Given the description of an element on the screen output the (x, y) to click on. 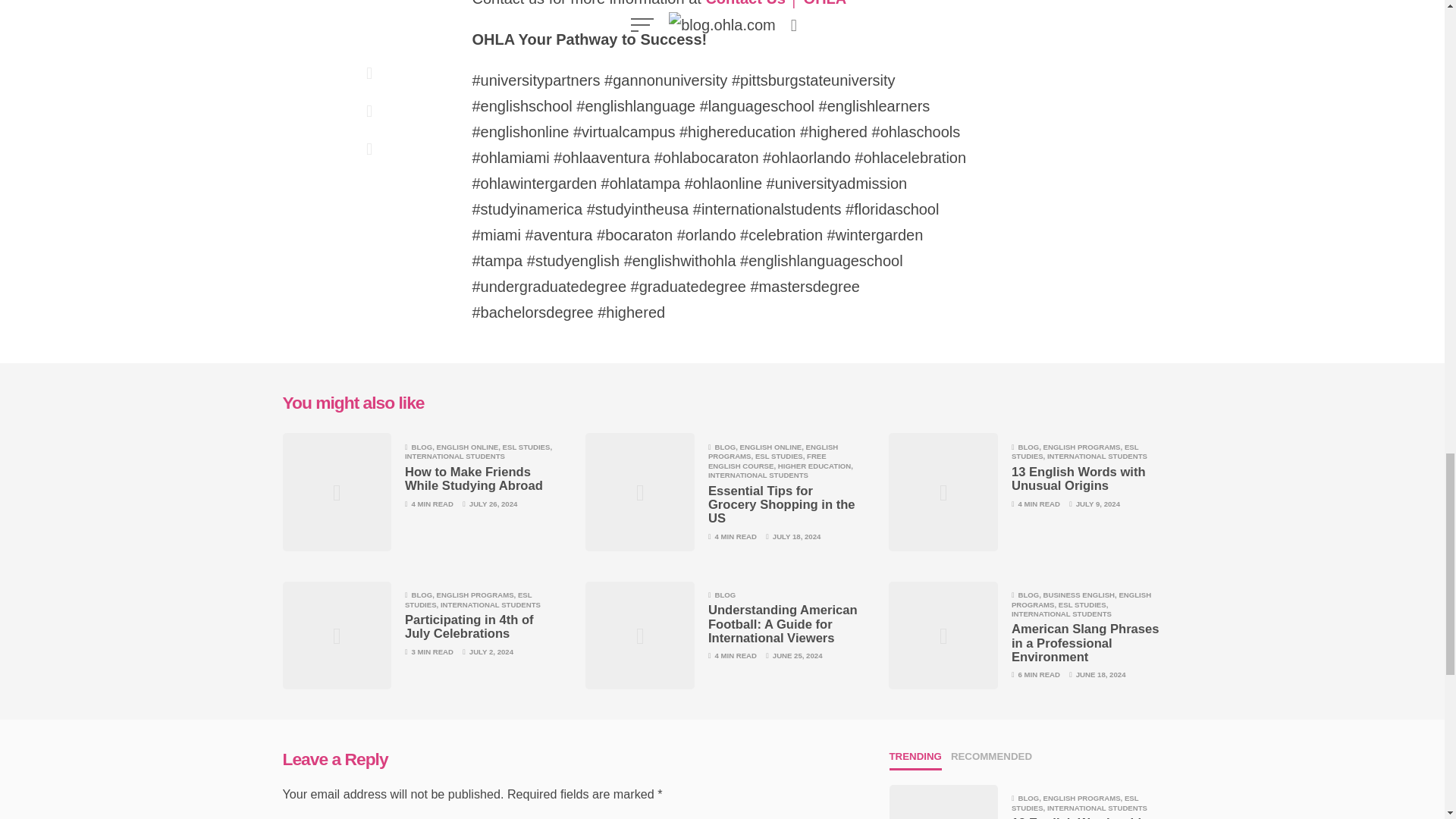
How to Make Friends While Studying Abroad (473, 479)
ENGLISH PROGRAMS (1082, 447)
ENGLISH ONLINE (467, 447)
BLOG (421, 594)
INTERNATIONAL STUDENTS (454, 456)
ESL STUDIES (1074, 451)
INTERNATIONAL STUDENTS (1096, 456)
ENGLISH ONLINE (770, 447)
FREE ENGLISH COURSE (767, 460)
BLOG (724, 447)
13 English Words with Unusual Origins (1078, 479)
BLOG (421, 447)
INTERNATIONAL STUDENTS (757, 474)
Essential Tips for Grocery Shopping in the US (781, 505)
BLOG (1028, 447)
